Given the description of an element on the screen output the (x, y) to click on. 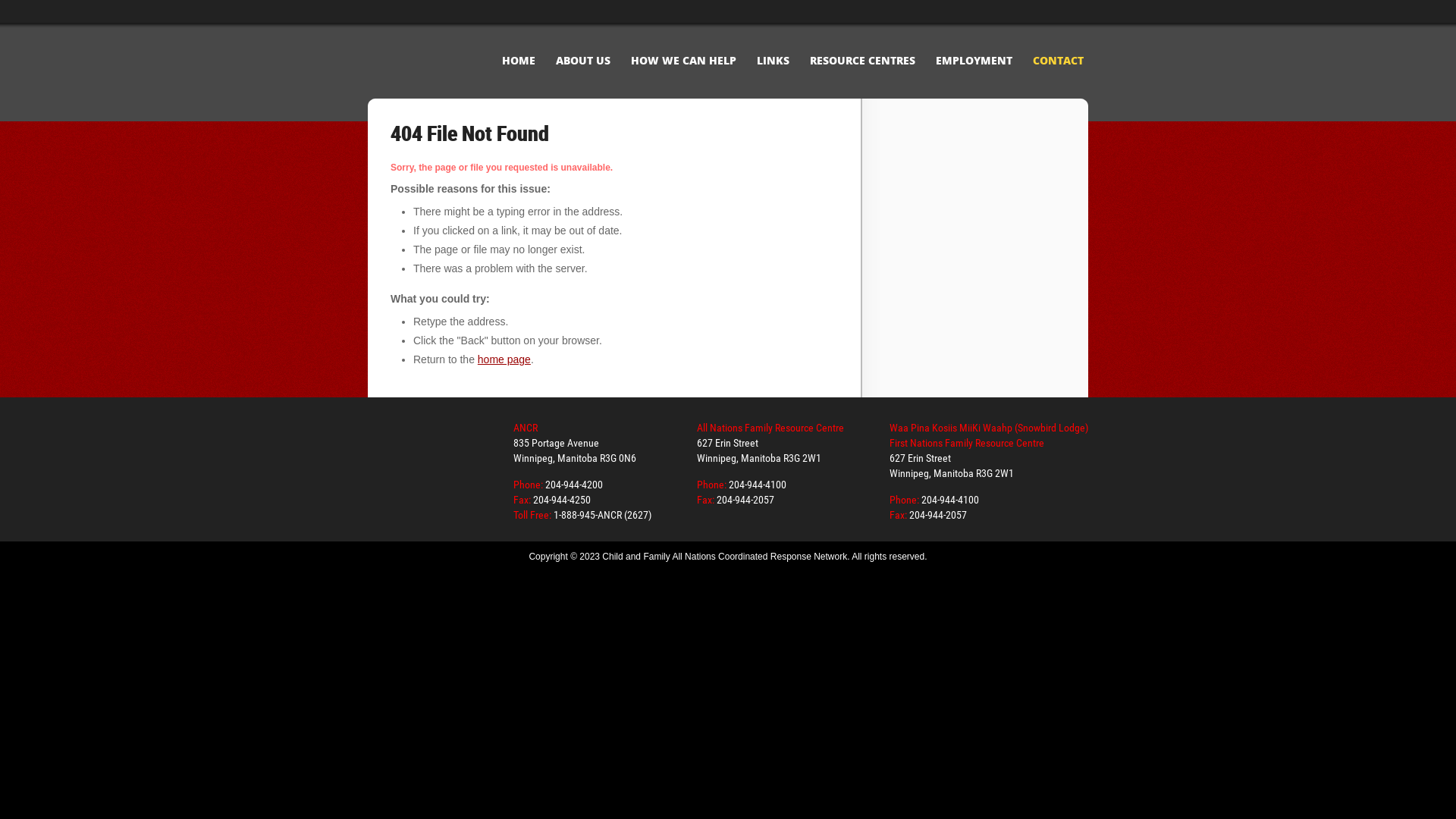
ABOUT US Element type: text (583, 60)
HOW WE CAN HELP Element type: text (683, 60)
RESOURCE CENTRES Element type: text (862, 60)
Child and Family All Nations Coordinated Response Network Element type: text (424, 56)
CONTACT Element type: text (1058, 60)
HOME Element type: text (518, 60)
LINKS Element type: text (772, 60)
home page Element type: text (503, 359)
EMPLOYMENT Element type: text (973, 60)
Child and Family All Nations Coordinated Response Network Element type: text (409, 461)
